Given the description of an element on the screen output the (x, y) to click on. 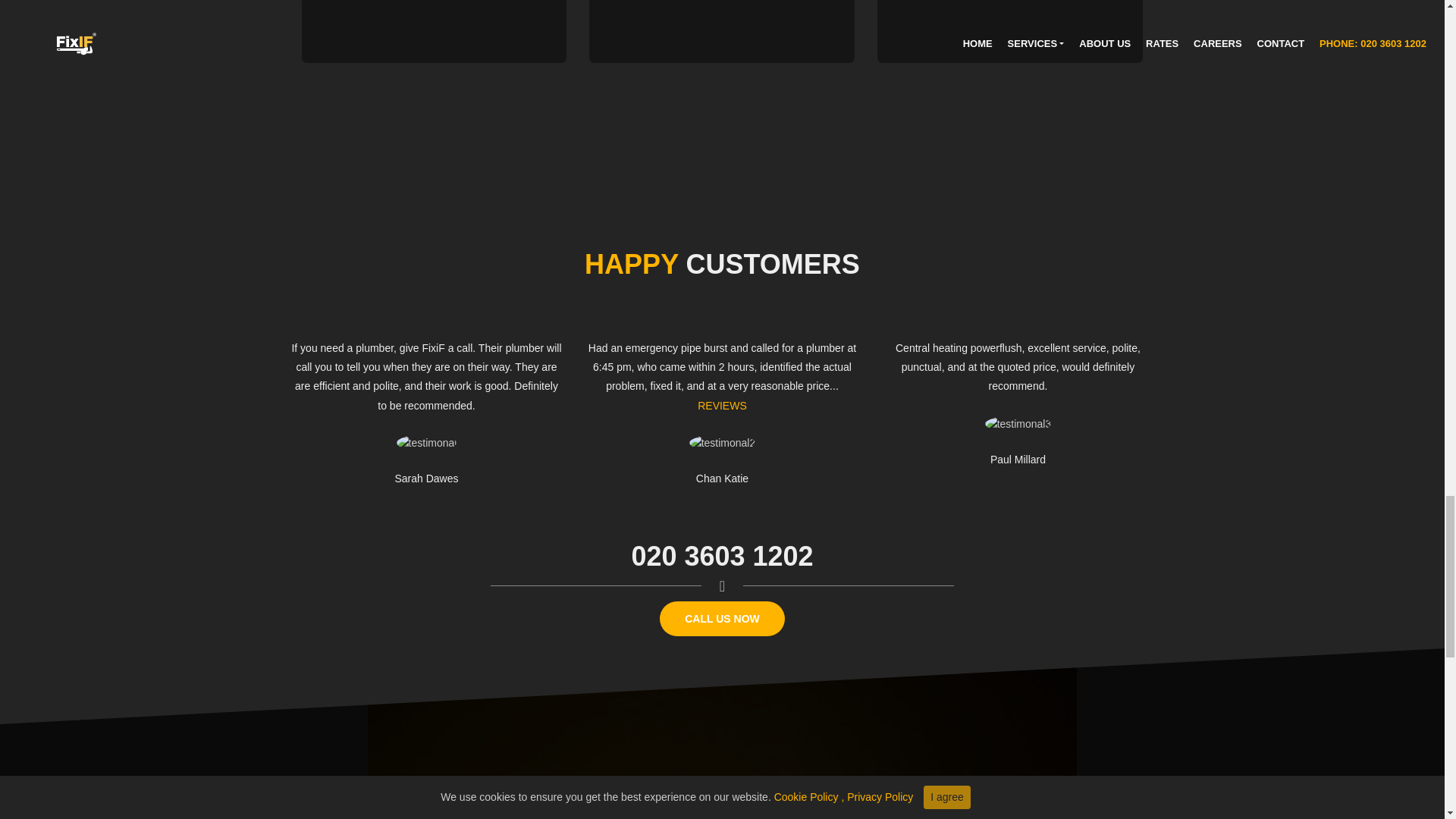
WATCH NEW VIDEO! (721, 785)
Find out more (1064, 19)
PLUMBING (487, 20)
BATHROOM (772, 19)
Call FixIF (721, 556)
Find out more (772, 19)
REVIEWS (721, 405)
Find out more (487, 20)
CALL US NOW (721, 618)
Phone FixIF (721, 618)
